Given the description of an element on the screen output the (x, y) to click on. 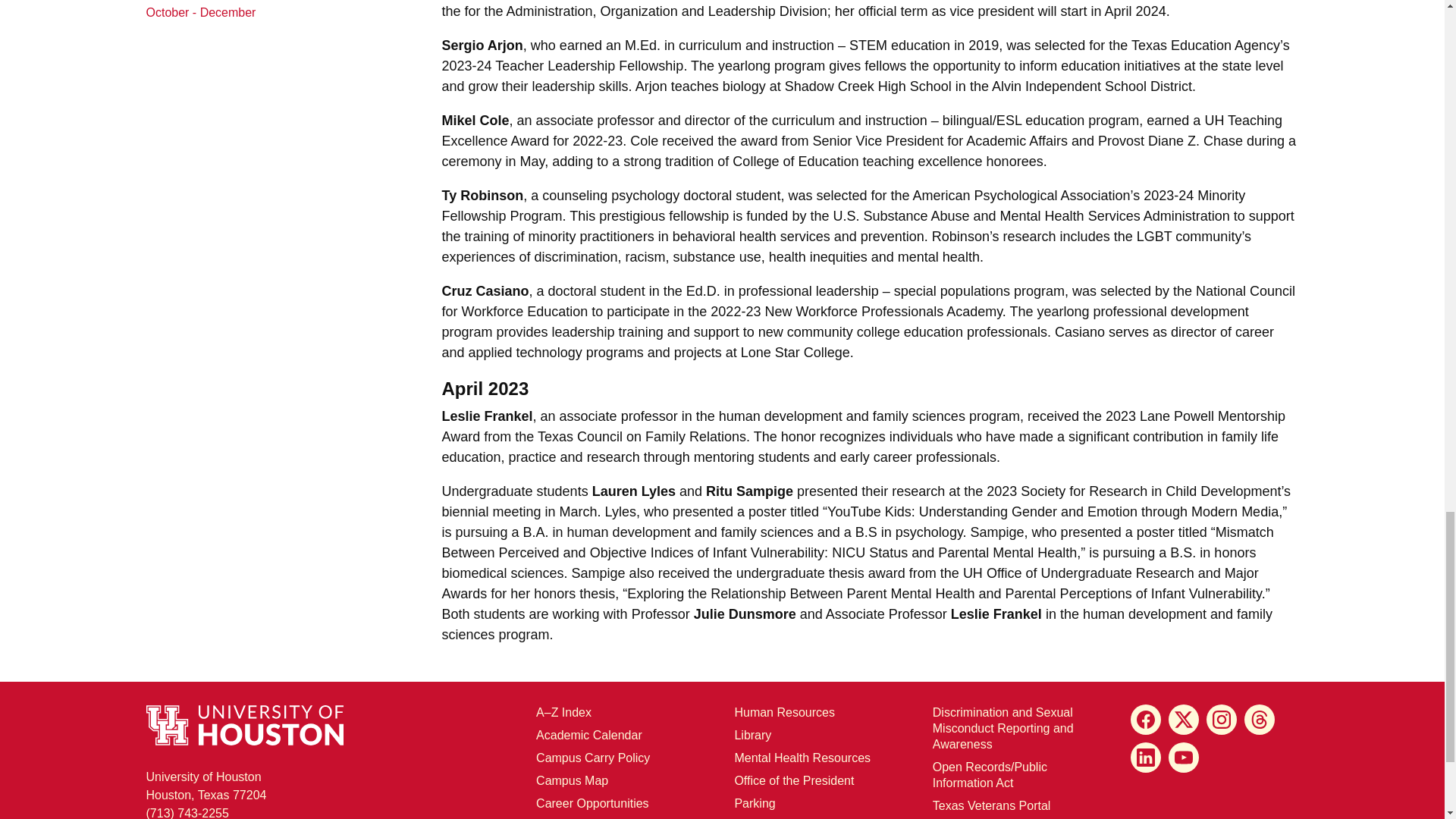
University of Houston (1214, 120)
YouTube (1183, 757)
X (1183, 719)
Facebook (1145, 719)
University of Houston (972, 572)
Threads (1259, 719)
LinkedIn (1145, 757)
Instagram (1221, 719)
